Given the description of an element on the screen output the (x, y) to click on. 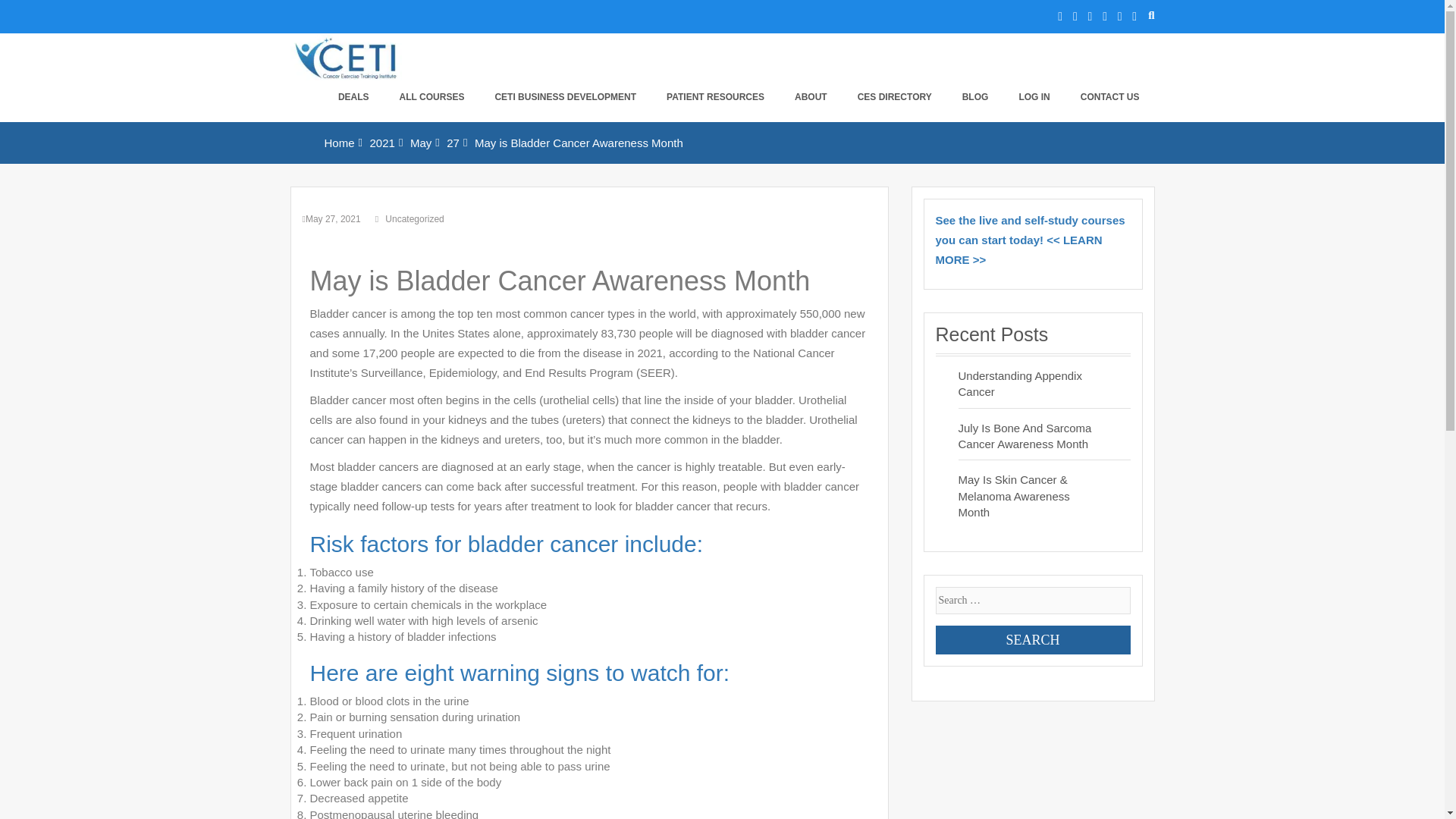
DEALS (353, 97)
ABOUT (810, 97)
PATIENT RESOURCES (714, 97)
ALL COURSES (432, 97)
CONTACT US (1109, 97)
CES DIRECTORY (895, 97)
Search (1033, 639)
BLOG (975, 97)
LOG IN (1033, 97)
CETI BUSINESS DEVELOPMENT (564, 97)
